Given the description of an element on the screen output the (x, y) to click on. 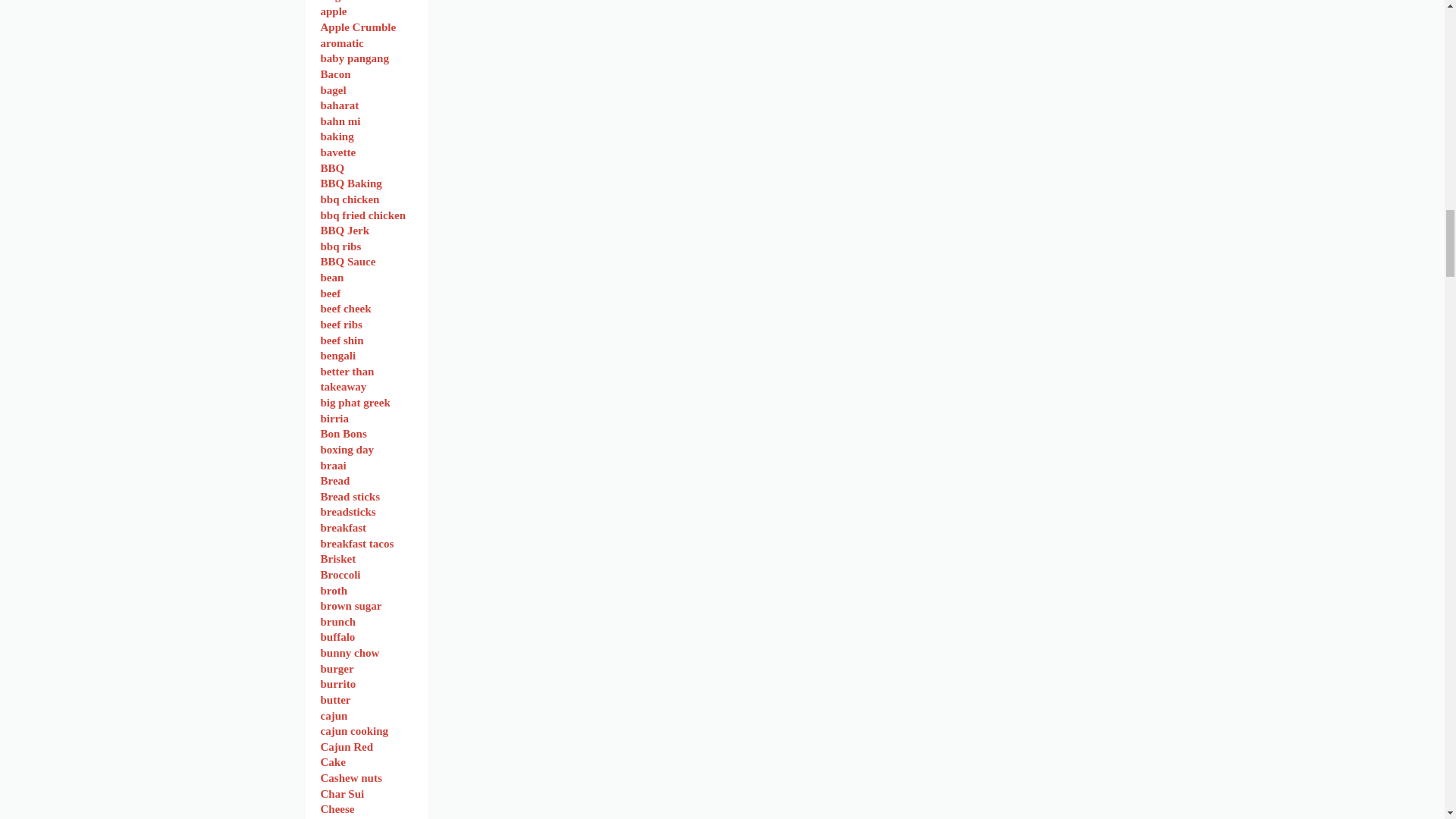
Show articles tagged aromatic (341, 42)
Show articles tagged bagel (333, 90)
Show articles tagged Bacon (335, 73)
Show articles tagged baharat (339, 105)
Show articles tagged Angus and Oink (359, 1)
Show articles tagged Apple Crumble (358, 27)
Show articles tagged apple (333, 10)
Show articles tagged baby pangang (354, 58)
Show articles tagged baking (336, 136)
Show articles tagged bavette (337, 152)
